Given the description of an element on the screen output the (x, y) to click on. 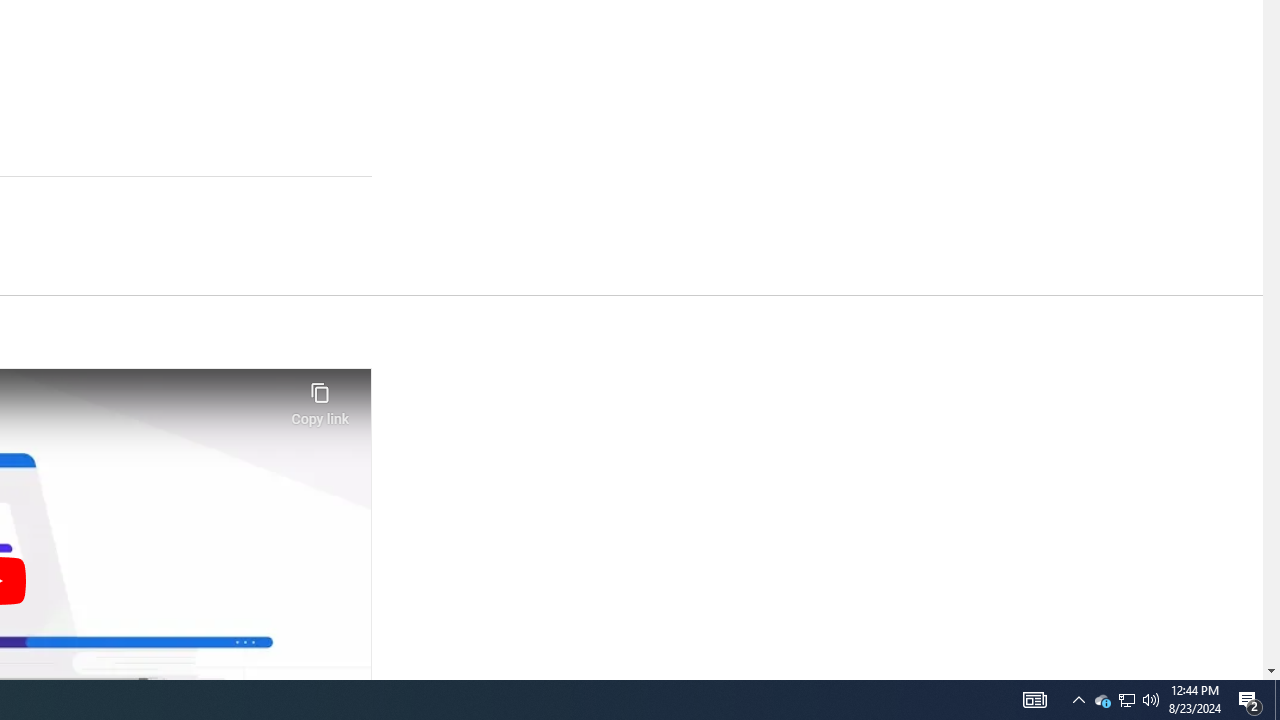
Copy link (319, 398)
